Given the description of an element on the screen output the (x, y) to click on. 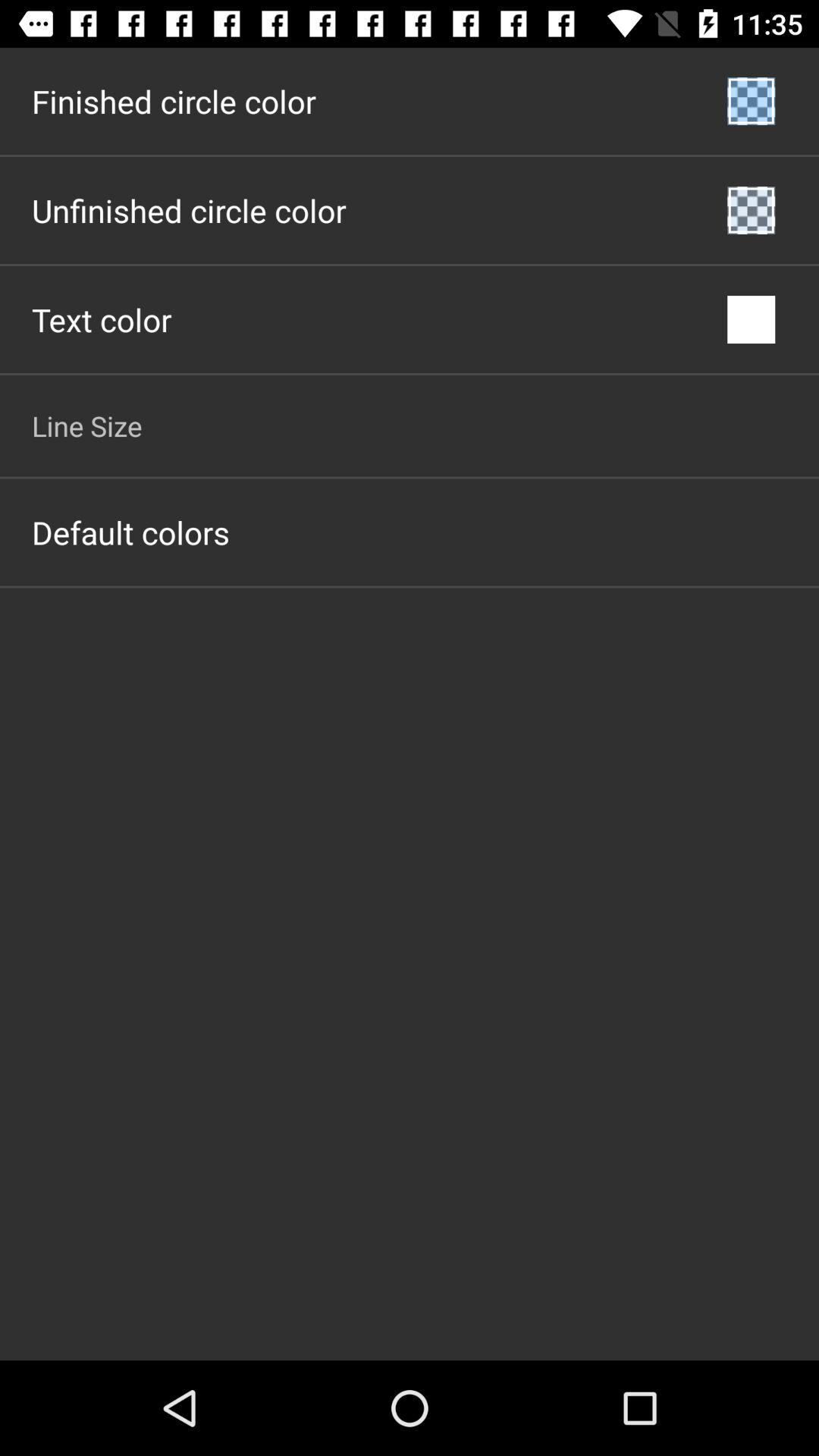
press text color icon (101, 319)
